Given the description of an element on the screen output the (x, y) to click on. 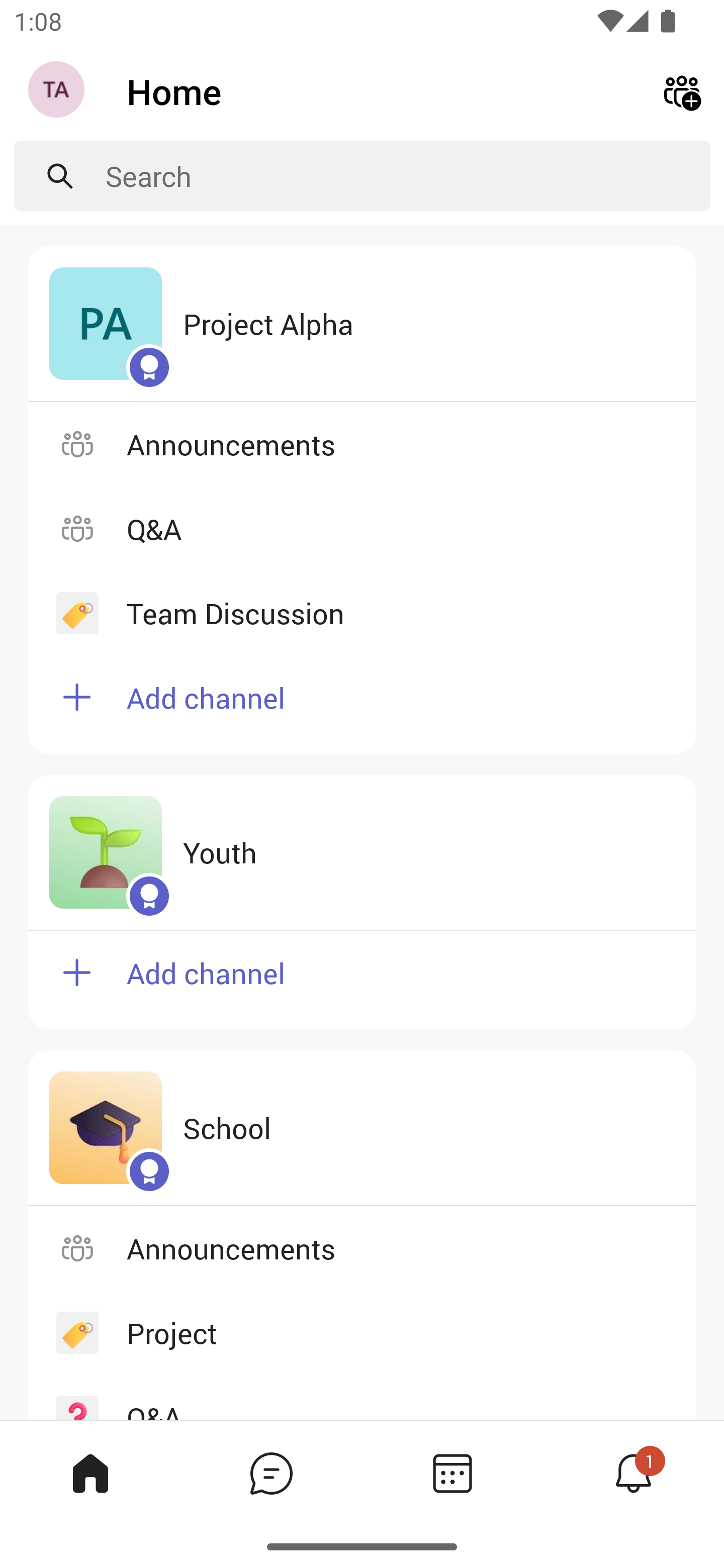
Create new community (681, 90)
Navigation (58, 91)
Search (407, 176)
Project Alpha Community. Project Alpha (361, 323)
Announcements Channel. Announcements (361, 443)
Q&A Channel. Q&A (361, 528)
Team Discussion Channel. Team Discussion (361, 612)
Youth Community. Youth (361, 852)
Add a new channel to Youth community Add channel (361, 979)
School Community. School (361, 1127)
Announcements Channel. Announcements (361, 1247)
Project Channel. Project (361, 1332)
Home tab, 1 of 4 (90, 1472)
Chat tab,2 of 4, not selected (271, 1472)
Calendar tab,3 of 4, not selected (452, 1472)
Activity tab,4 of 4, not selected, 1 new 1 (633, 1472)
